Given the description of an element on the screen output the (x, y) to click on. 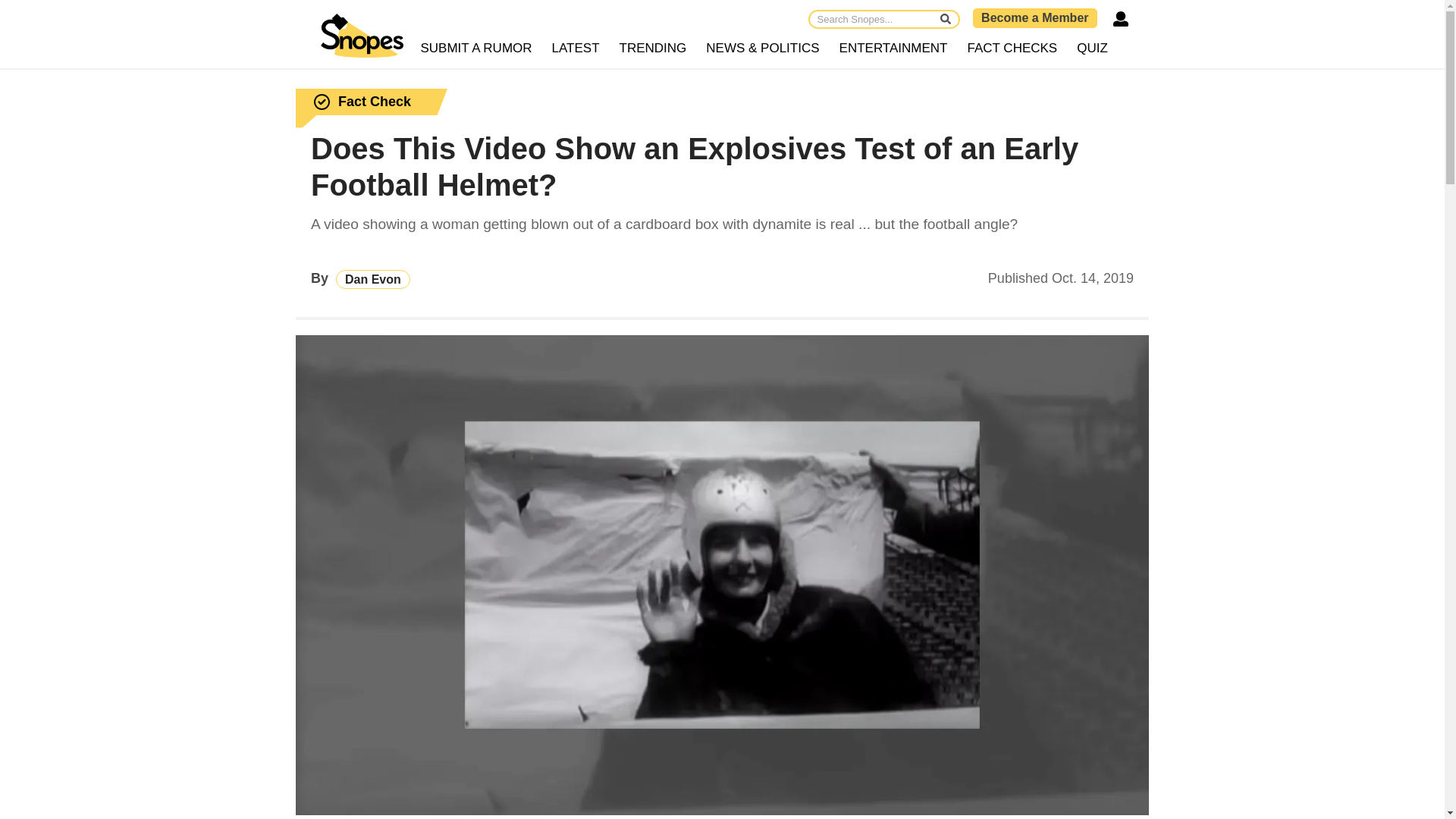
QUIZ (1092, 47)
FACT CHECKS (1011, 47)
TRENDING (653, 47)
Become a Member (1034, 17)
Dan Evon (373, 279)
ENTERTAINMENT (893, 47)
LATEST (576, 47)
SUBMIT A RUMOR (475, 47)
